Given the description of an element on the screen output the (x, y) to click on. 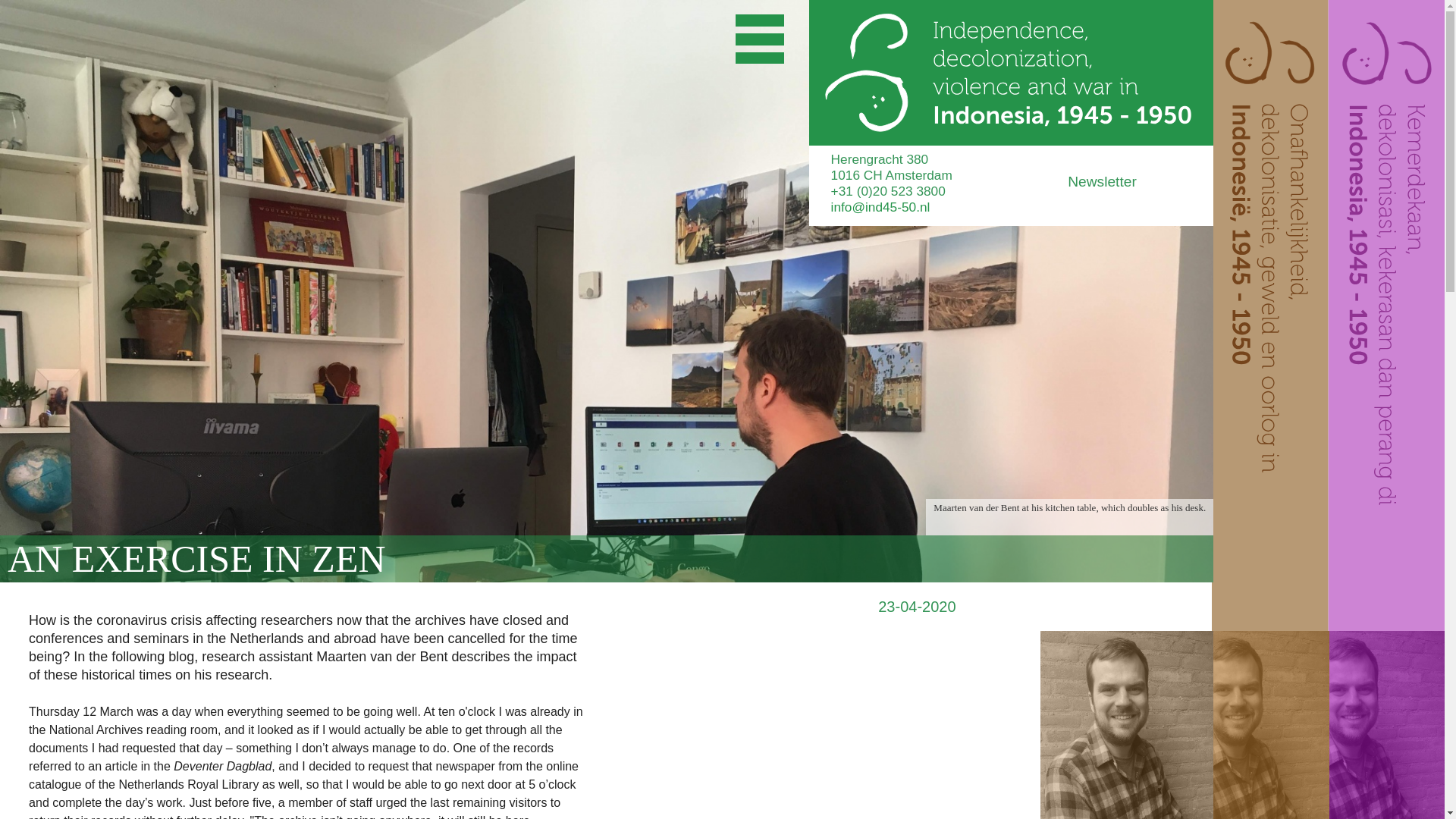
Home (1010, 72)
Newsletter (1139, 185)
Drupal (1010, 72)
